Given the description of an element on the screen output the (x, y) to click on. 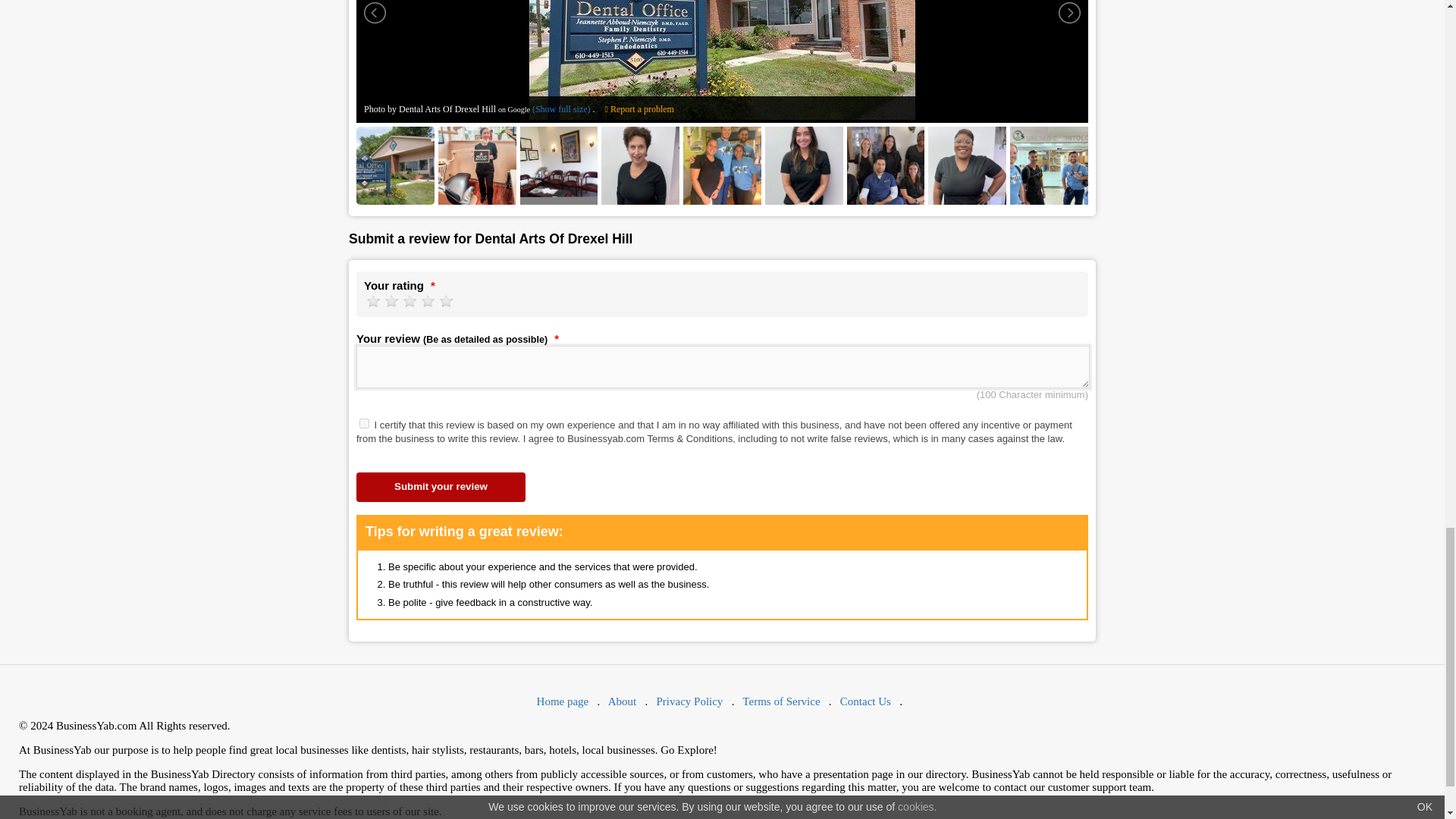
Submit your review (440, 487)
true (364, 423)
